Given the description of an element on the screen output the (x, y) to click on. 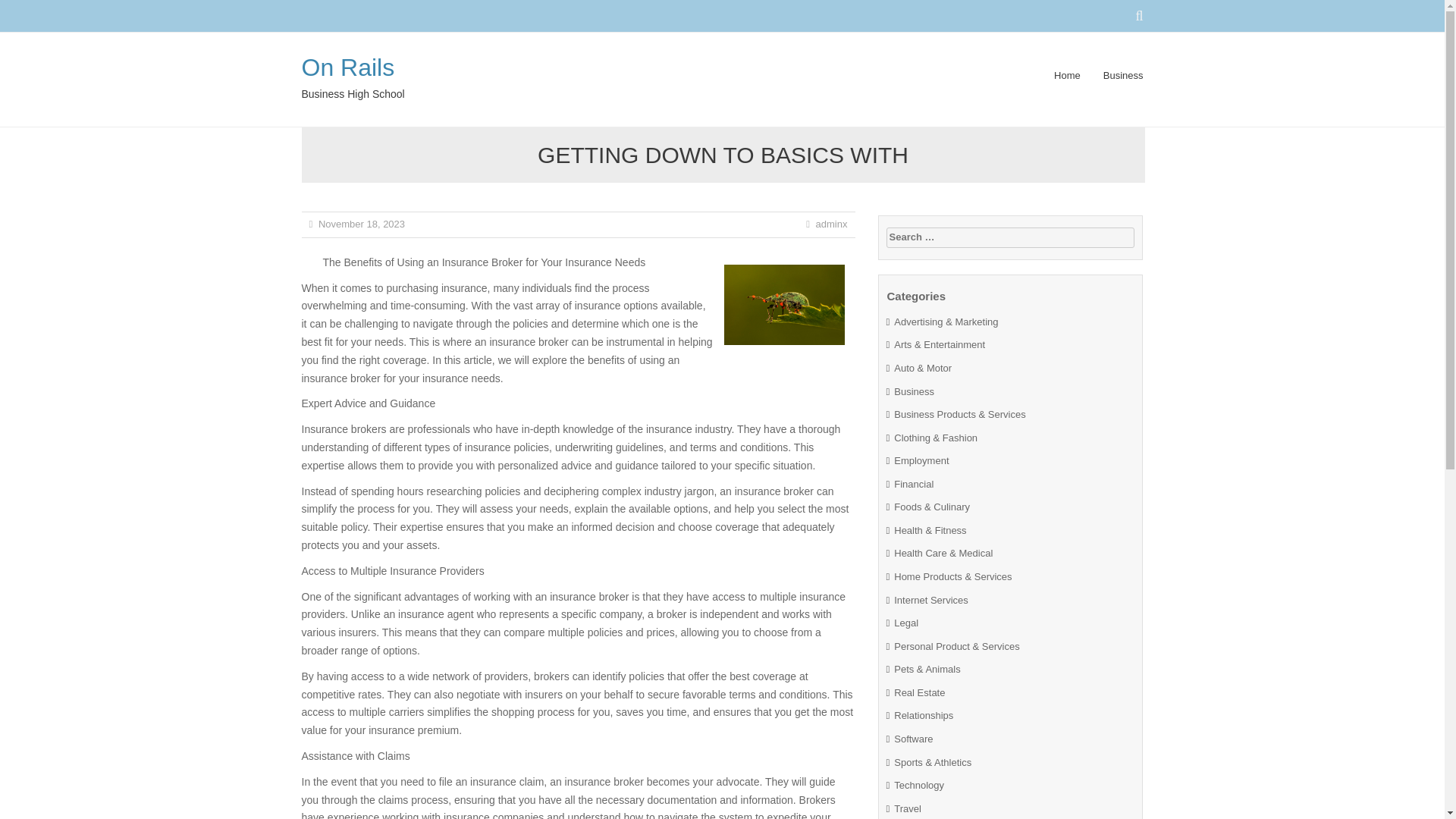
Employment (921, 460)
Business (913, 391)
Internet Services (930, 600)
Search (24, 9)
Technology (918, 785)
Legal (905, 622)
Software (913, 738)
Relationships (923, 715)
Financial (913, 483)
On Rails (347, 67)
Real Estate (918, 692)
Travel (907, 808)
November 18, 2023 (361, 224)
adminx (831, 224)
